Given the description of an element on the screen output the (x, y) to click on. 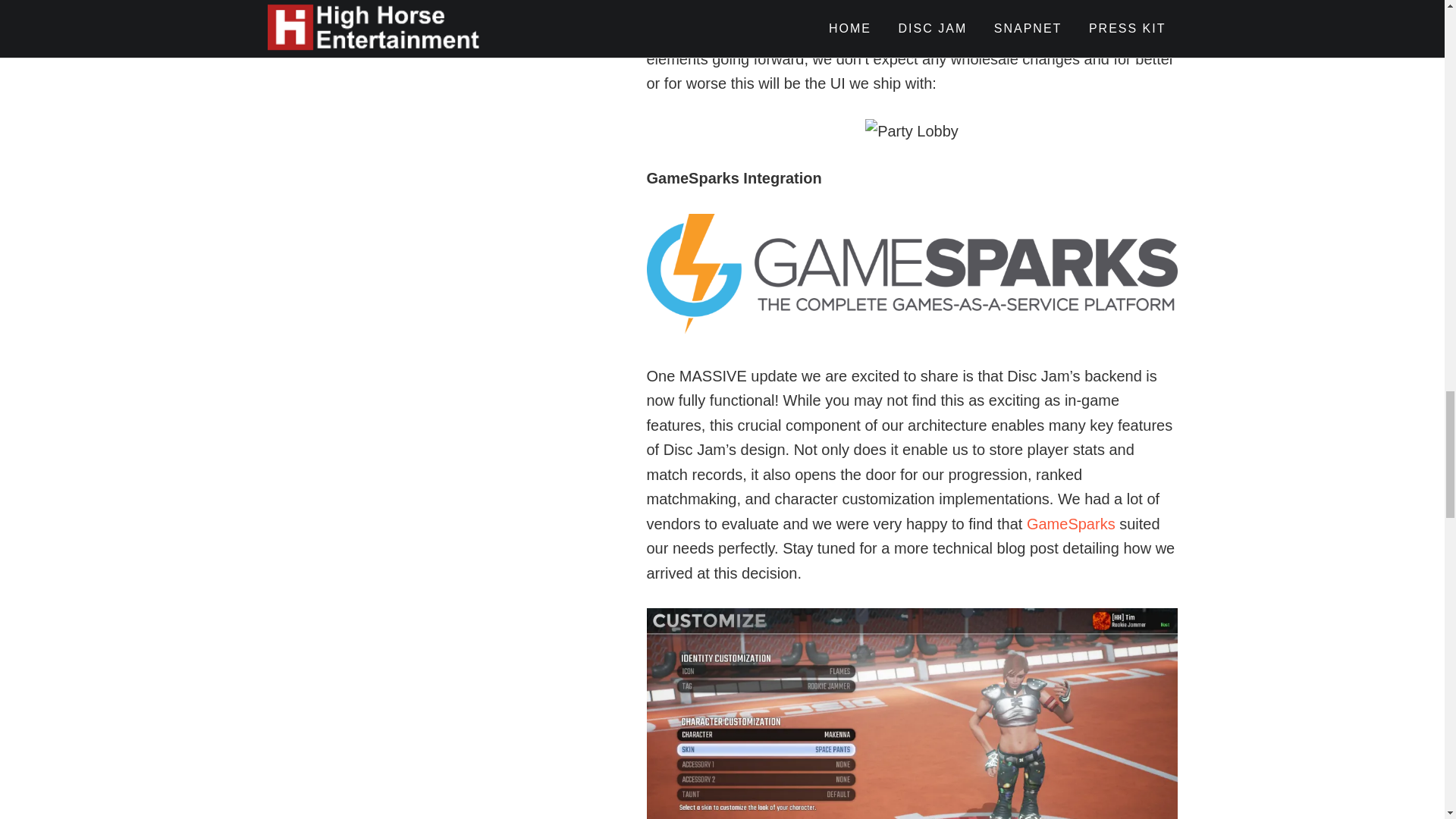
GameSparks (1070, 523)
